Given the description of an element on the screen output the (x, y) to click on. 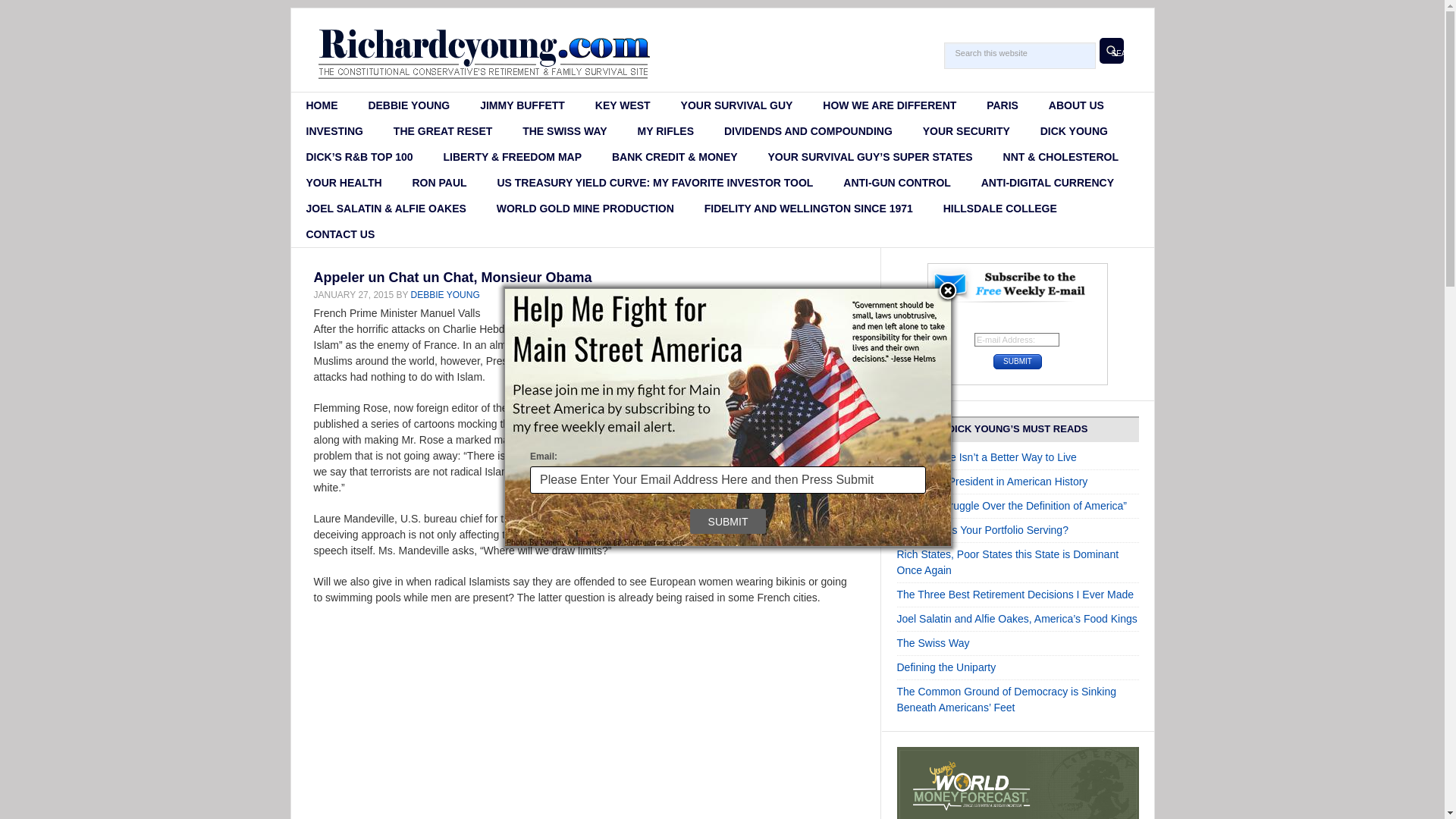
WORLD GOLD MINE PRODUCTION (584, 208)
Please Enter Your Email Address Here and then Press Submit (727, 479)
DEBBIE YOUNG (445, 294)
INVESTING (334, 130)
YOUR SECURITY (966, 130)
JIMMY BUFFETT (521, 104)
ANTI-GUN CONTROL (897, 182)
RICHARDCYOUNG.COM (484, 49)
Search (1111, 50)
FIDELITY AND WELLINGTON SINCE 1971 (808, 208)
PARIS (1002, 104)
ABOUT US (1076, 104)
YOUR HEALTH (344, 182)
MY RIFLES (666, 130)
Submit (728, 520)
